Given the description of an element on the screen output the (x, y) to click on. 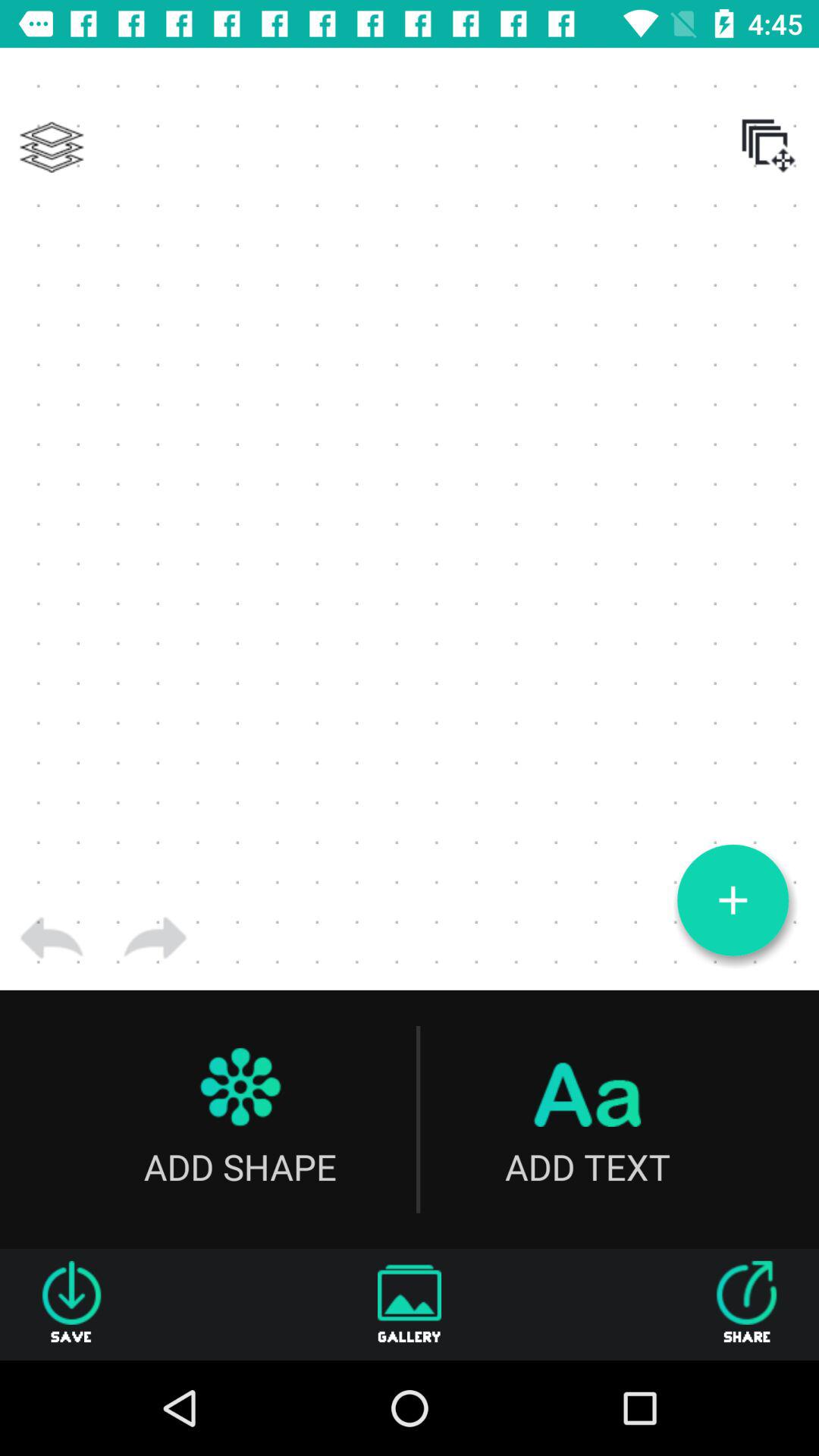
press the gallery icon (409, 1304)
